Given the description of an element on the screen output the (x, y) to click on. 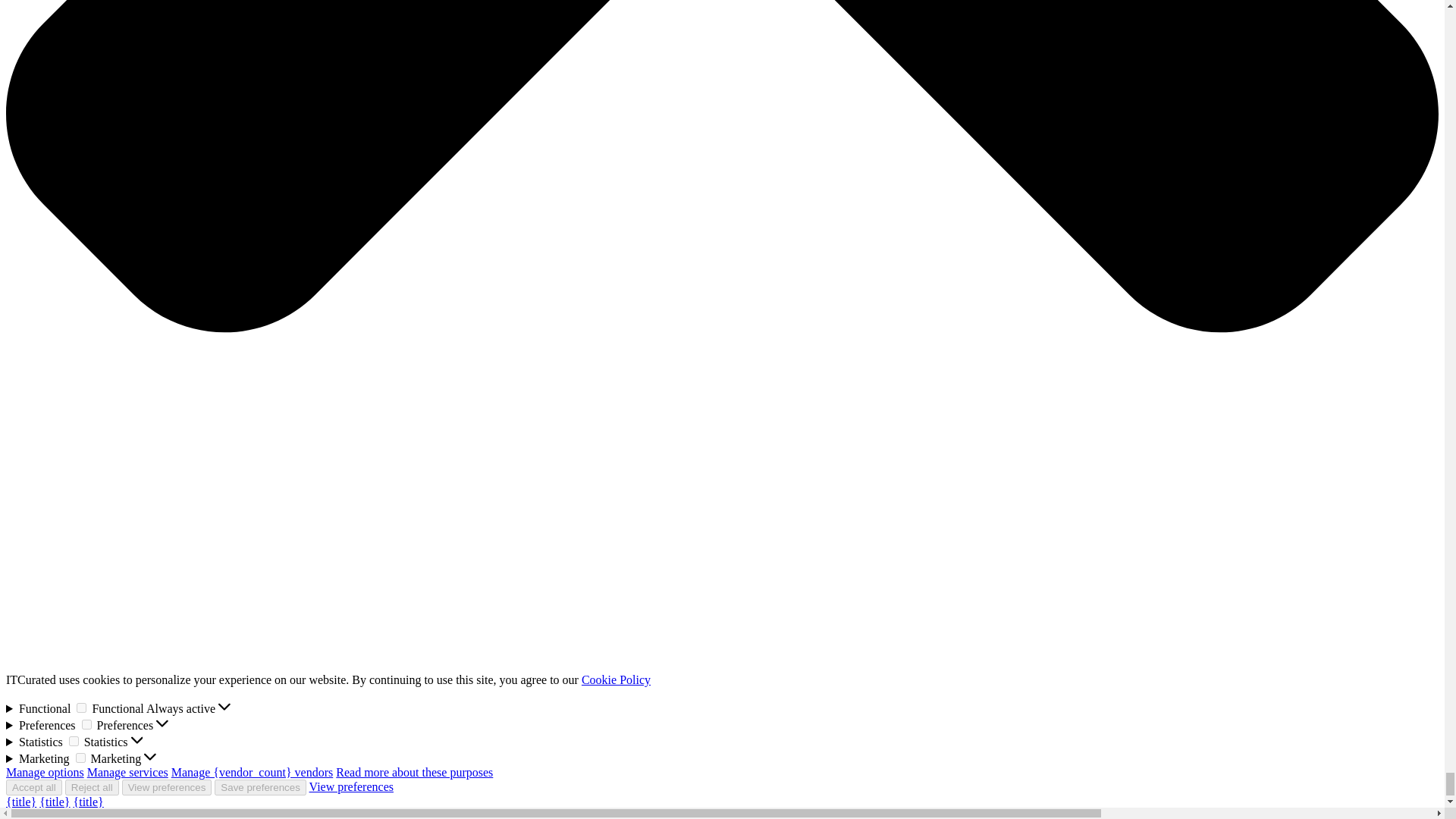
1 (73, 741)
1 (86, 724)
1 (80, 757)
1 (81, 707)
